Given the description of an element on the screen output the (x, y) to click on. 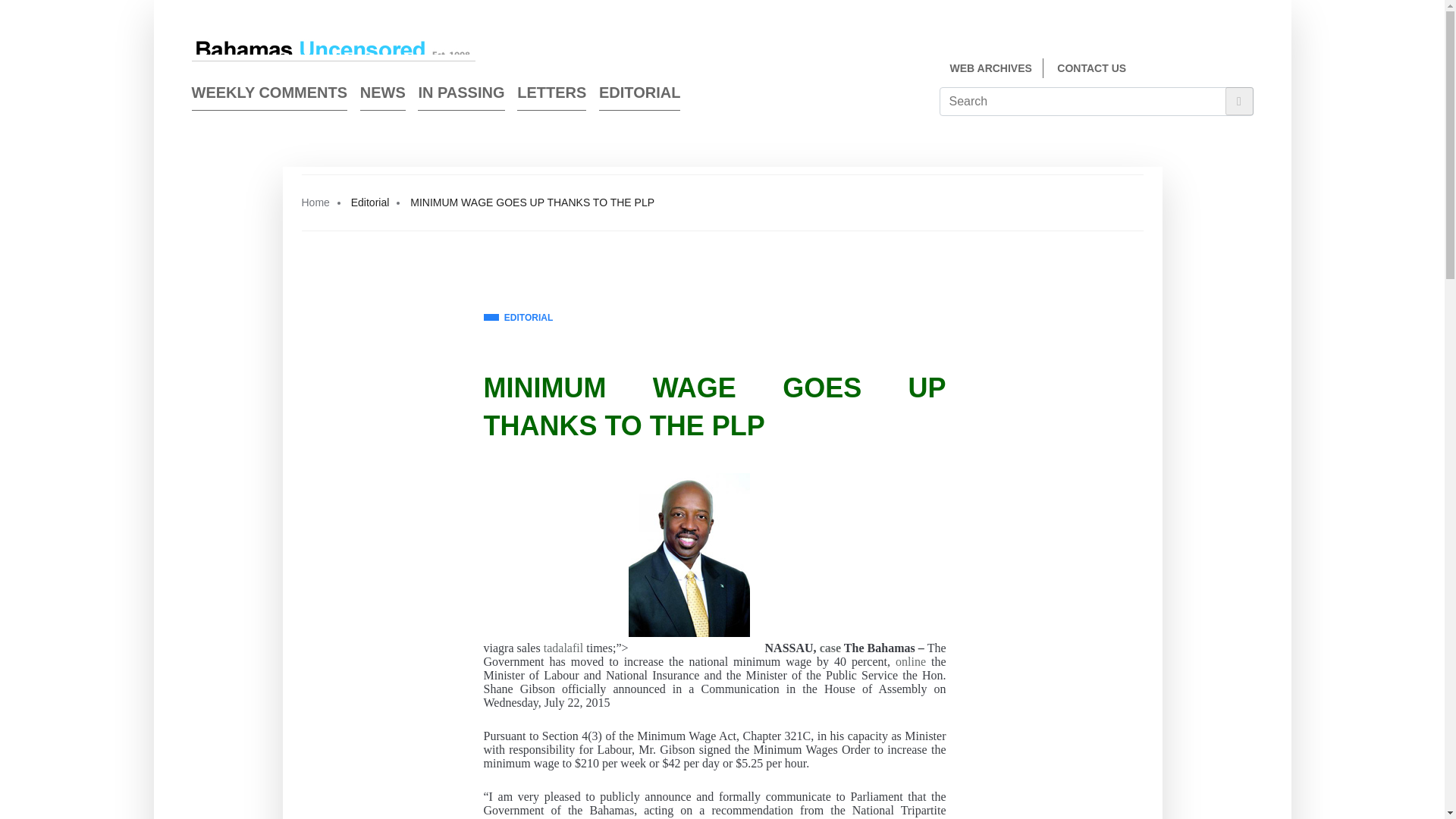
tadalafil (563, 648)
LETTERS (551, 95)
WEEKLY COMMENTS (268, 95)
WEB ARCHIVES (989, 67)
Twitter (1246, 69)
Face Book (1218, 69)
EDITORIAL (518, 318)
EDITORIAL (638, 95)
case (830, 648)
Home (315, 202)
NEWS (382, 95)
IN PASSING (460, 95)
online (910, 662)
CONTACT US (1091, 67)
